Given the description of an element on the screen output the (x, y) to click on. 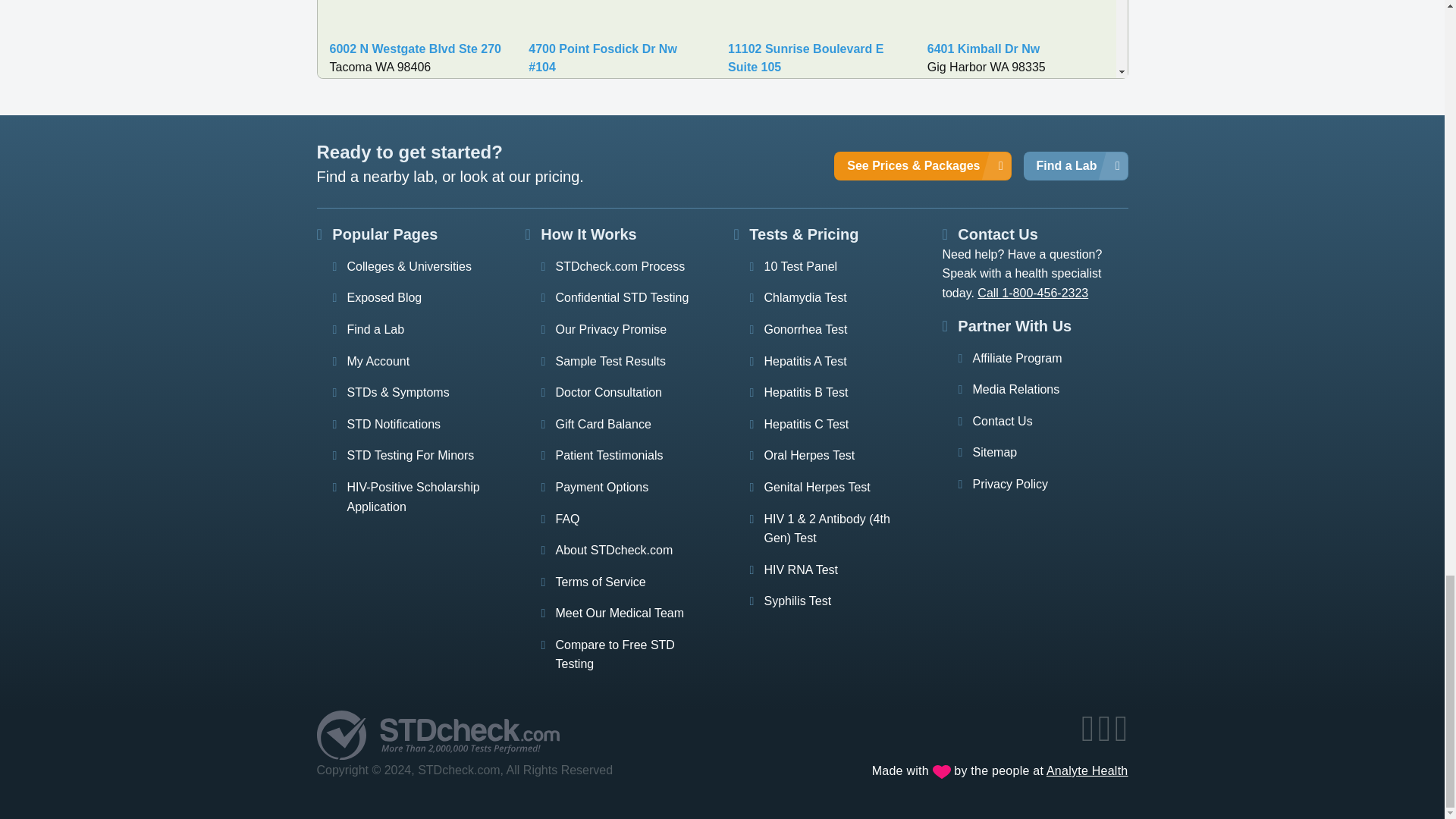
Feed burner (1121, 736)
Facebook (1089, 736)
Twitter (1106, 736)
